Given the description of an element on the screen output the (x, y) to click on. 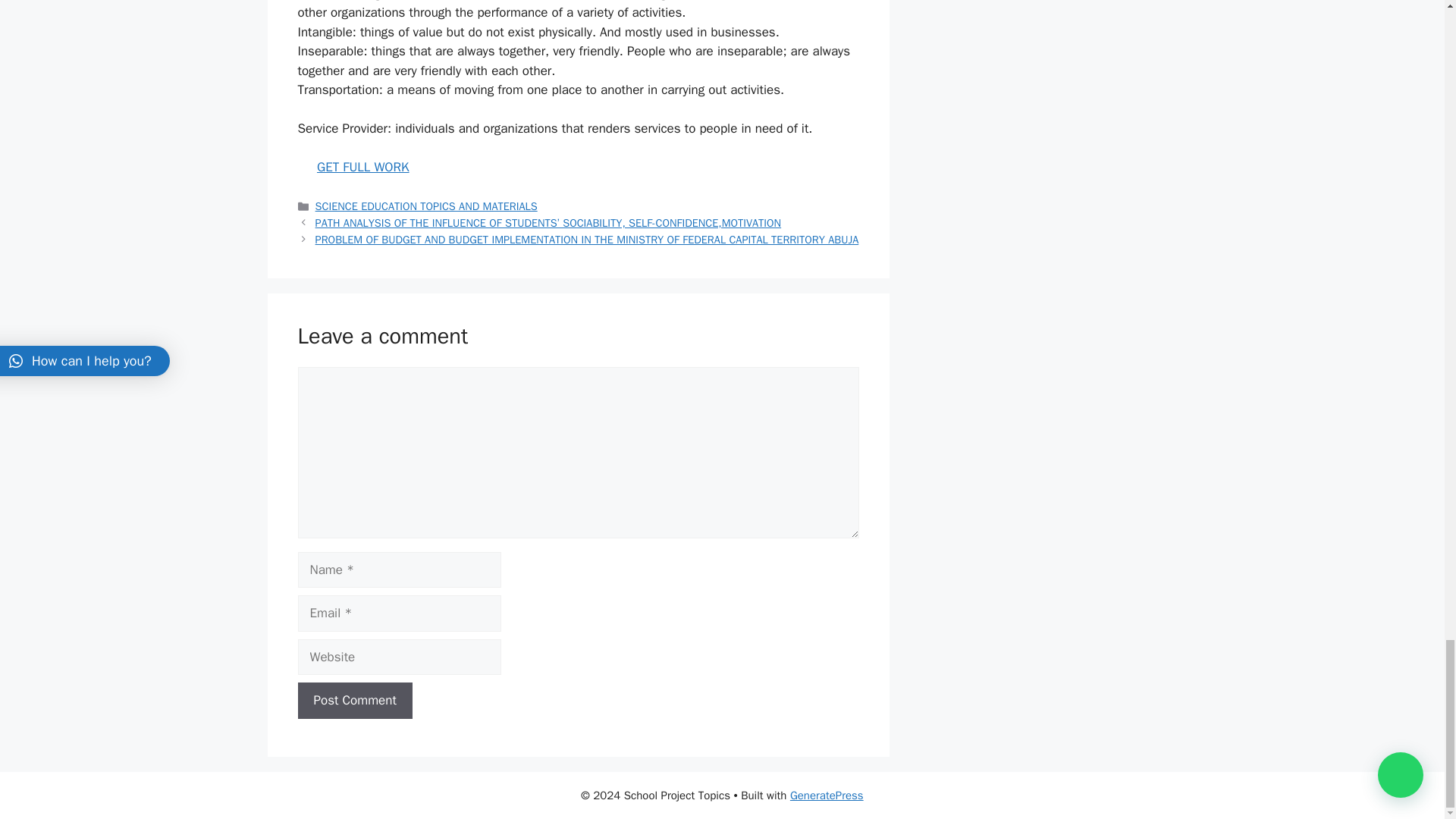
Post Comment (354, 700)
GeneratePress (826, 795)
SCIENCE EDUCATION TOPICS AND MATERIALS (426, 205)
GET FULL WORK (363, 166)
Post Comment (354, 700)
